Given the description of an element on the screen output the (x, y) to click on. 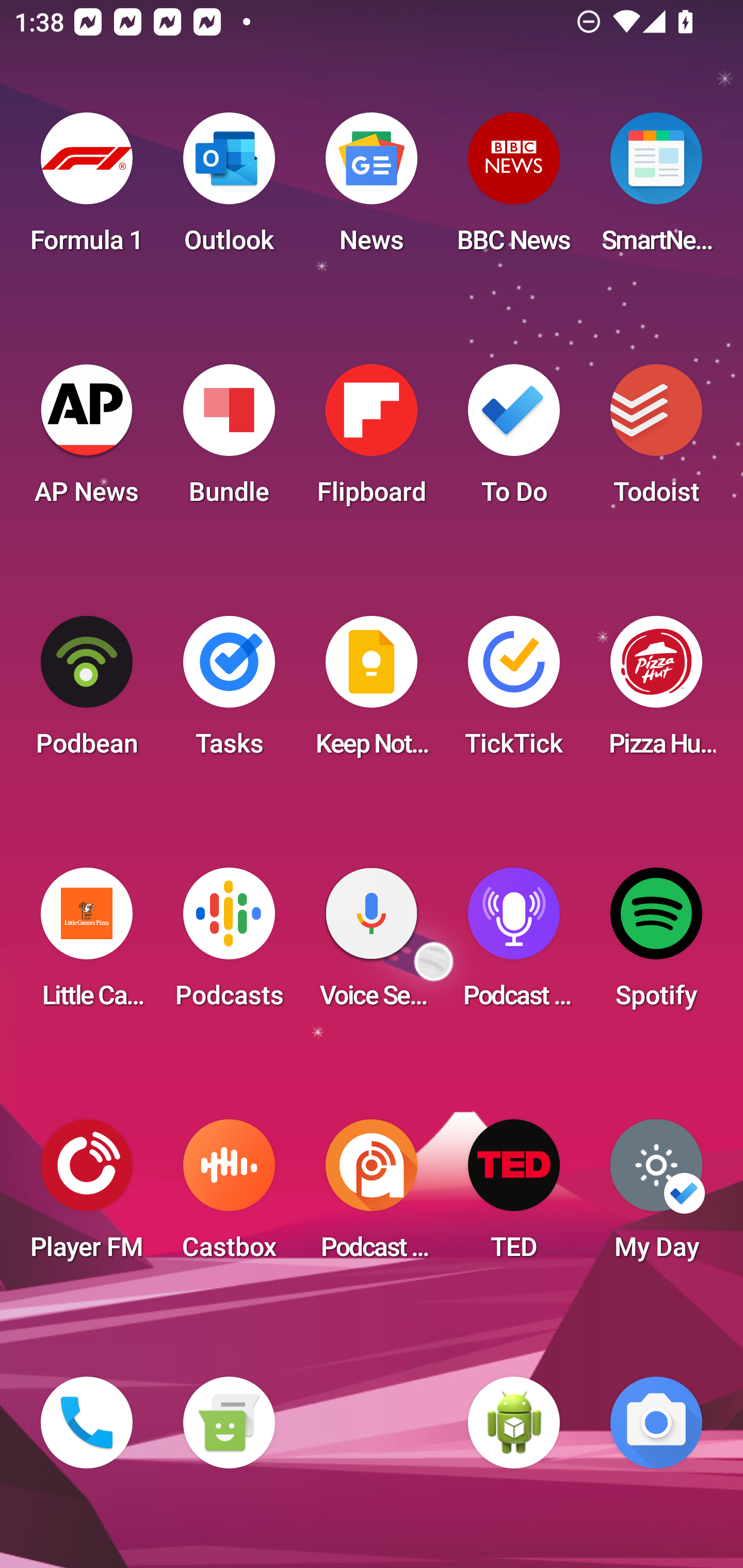
Formula 1 (86, 188)
Outlook (228, 188)
News (371, 188)
BBC News (513, 188)
SmartNews (656, 188)
AP News (86, 440)
Bundle (228, 440)
Flipboard (371, 440)
To Do (513, 440)
Todoist (656, 440)
Podbean (86, 692)
Tasks (228, 692)
Keep Notes (371, 692)
TickTick (513, 692)
Pizza Hut HK & Macau (656, 692)
Little Caesars Pizza (86, 943)
Podcasts (228, 943)
Voice Search (371, 943)
Podcast Player (513, 943)
Spotify (656, 943)
Player FM (86, 1195)
Castbox (228, 1195)
Podcast Addict (371, 1195)
TED (513, 1195)
My Day (656, 1195)
Phone (86, 1422)
Messaging (228, 1422)
WebView Browser Tester (513, 1422)
Camera (656, 1422)
